Given the description of an element on the screen output the (x, y) to click on. 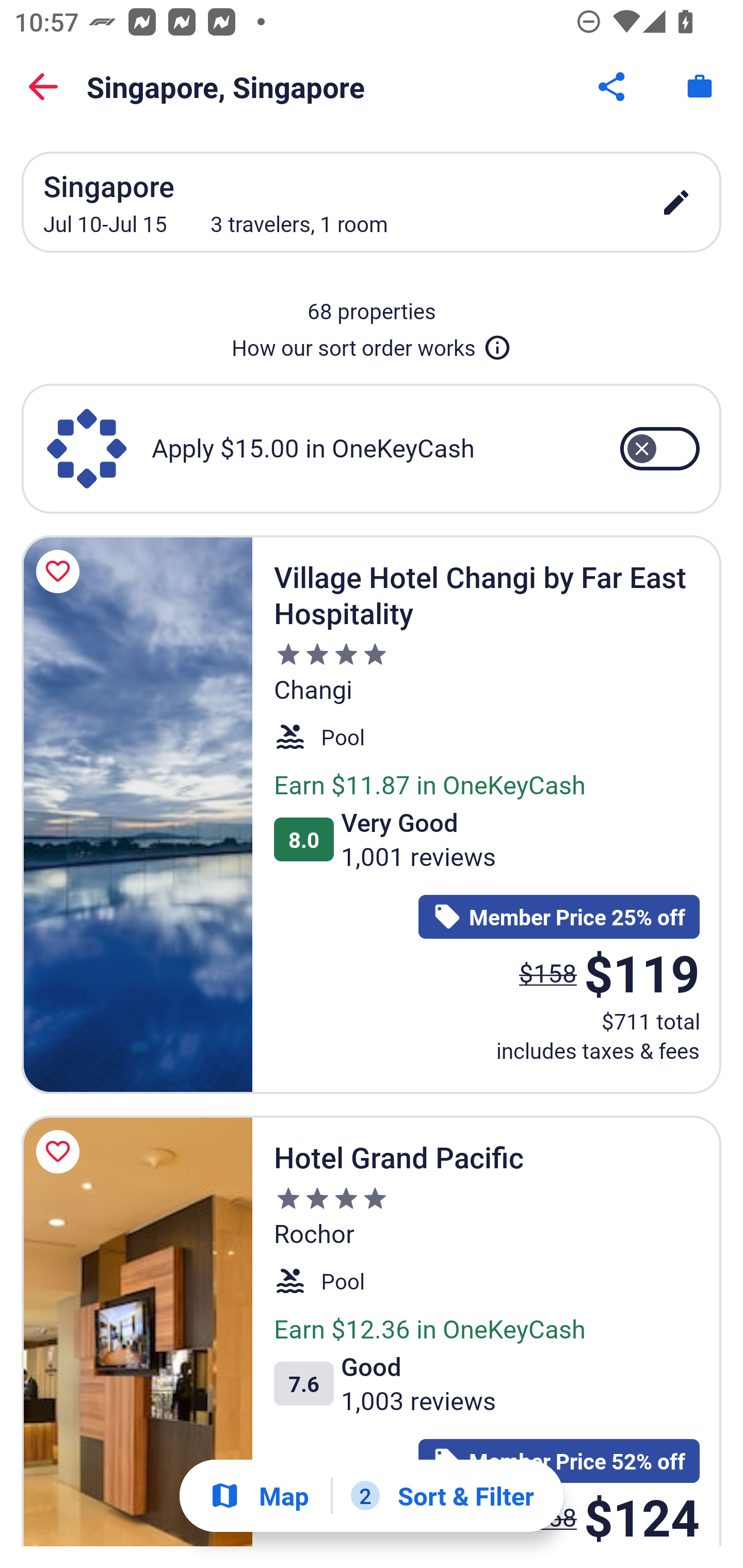
Back (43, 86)
Share Button (612, 86)
Trips. Button (699, 86)
Singapore Jul 10-Jul 15 3 travelers, 1 room edit (371, 202)
How our sort order works (371, 344)
Village Hotel Changi by Far East Hospitality (136, 814)
$158 The price was $158 (547, 972)
Save Hotel Grand Pacific to a trip (61, 1151)
Hotel Grand Pacific (136, 1331)
2 Sort & Filter 2 Filters applied. Filters Button (442, 1495)
Show map Map Show map Button (258, 1495)
